Given the description of an element on the screen output the (x, y) to click on. 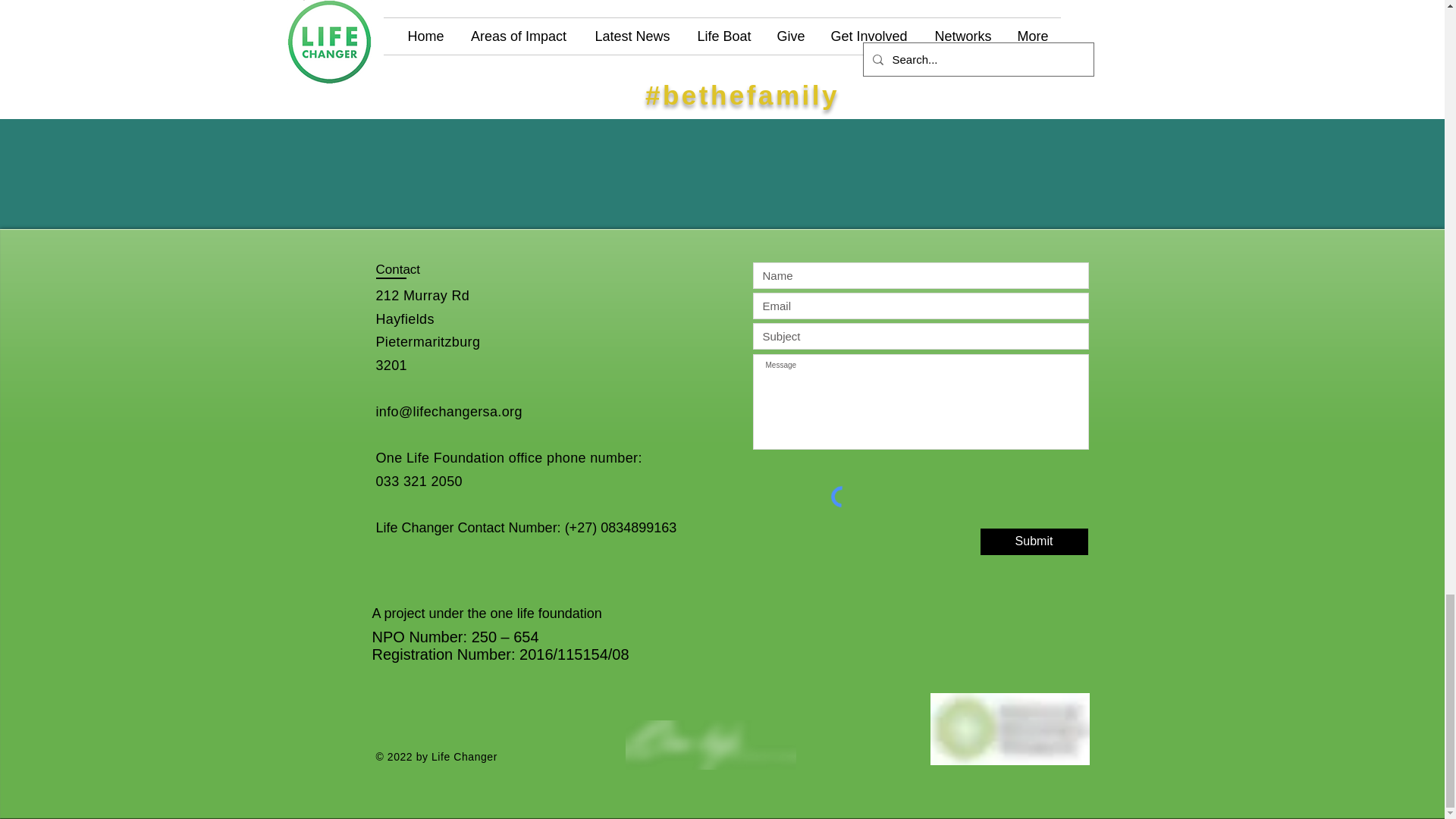
Submit (1033, 541)
Our Original Vision (1094, 9)
